Given the description of an element on the screen output the (x, y) to click on. 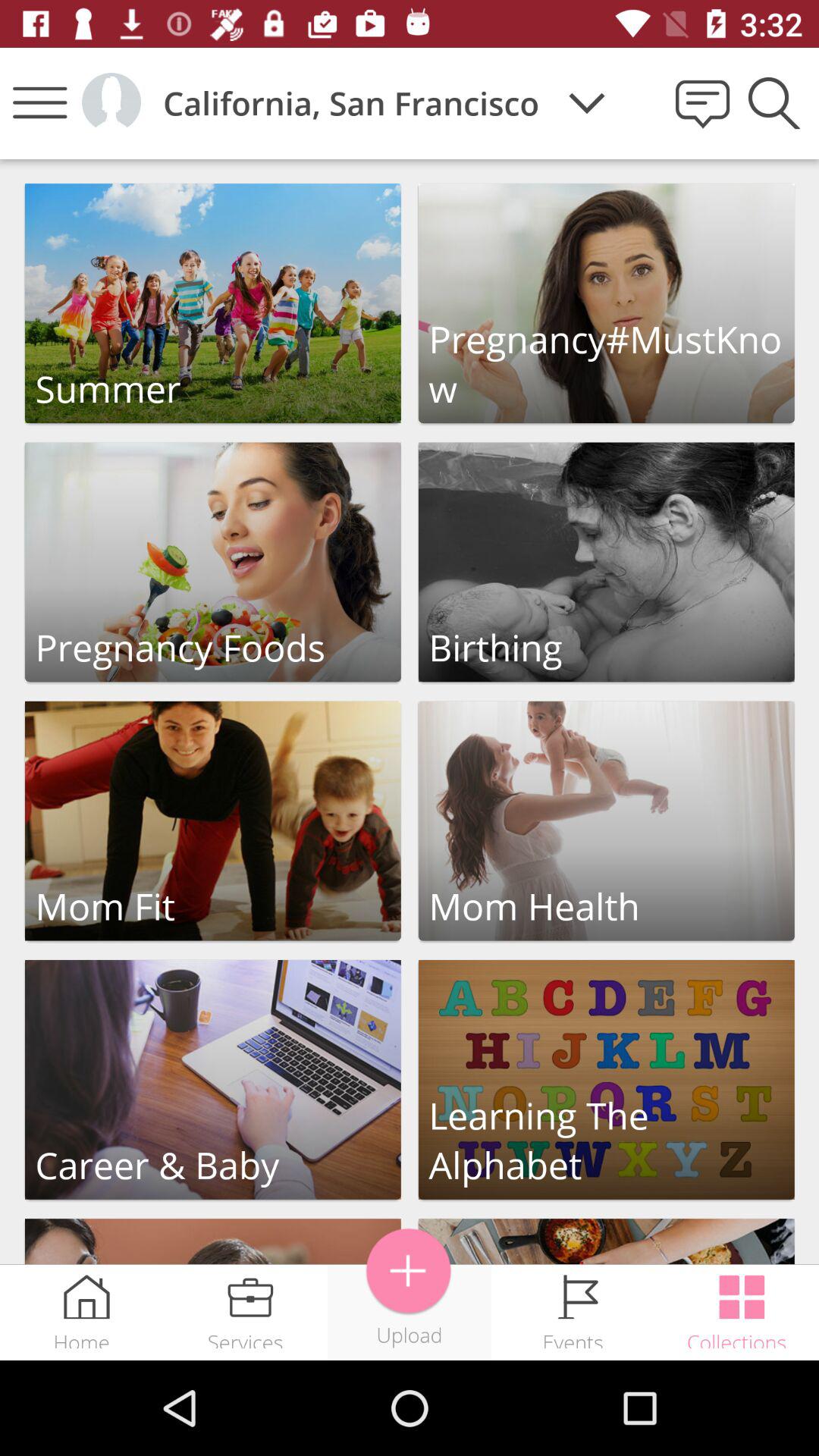
activate top right thumbnail (606, 303)
